Given the description of an element on the screen output the (x, y) to click on. 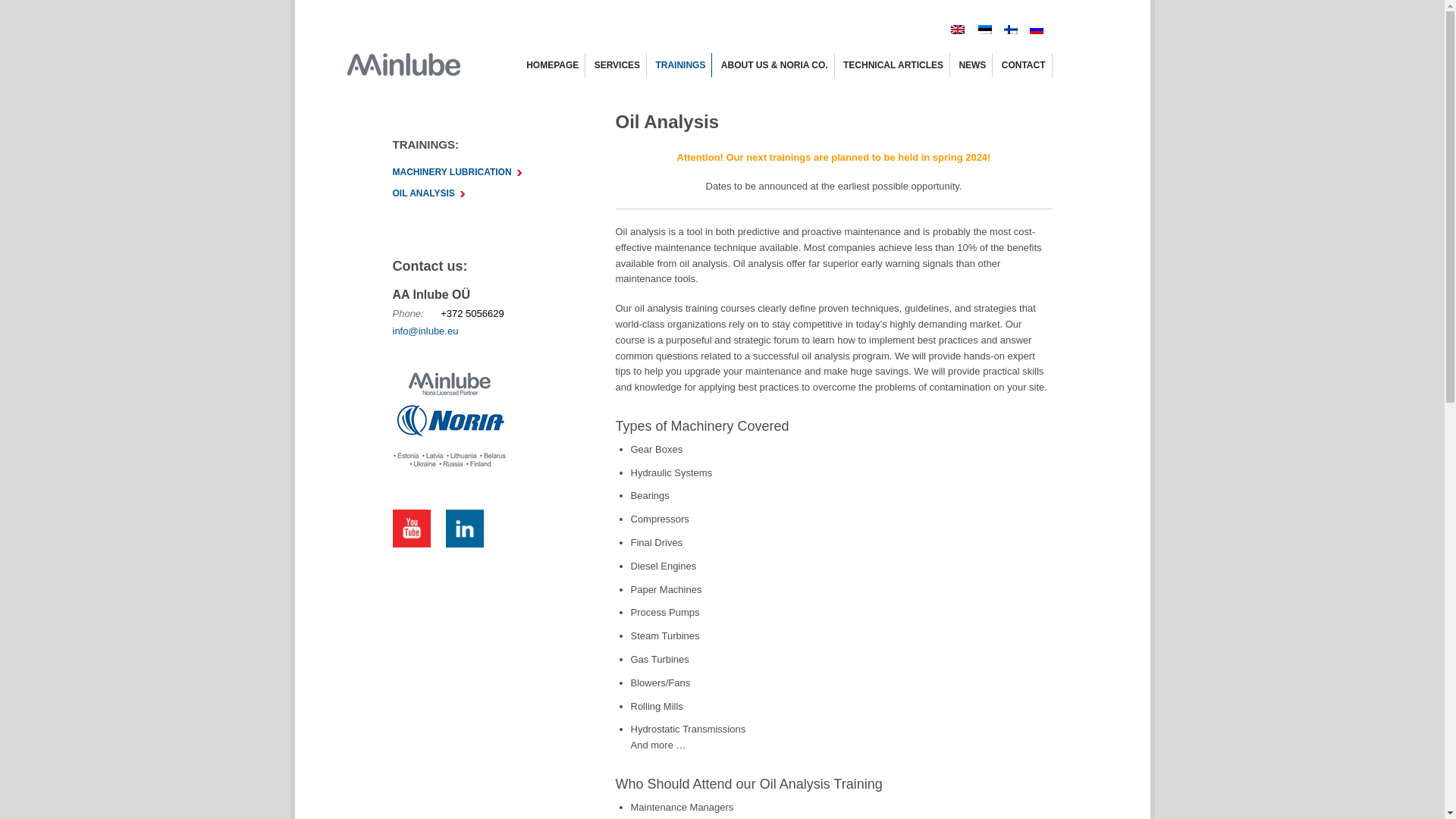
TECHNICAL ARTICLES (893, 64)
NEWS (971, 64)
CONTACT (1023, 64)
Norio corporation YT channel (464, 530)
Eesti (981, 28)
SERVICES (617, 64)
Norio corporation YT channel (419, 530)
Suomi (1008, 28)
English (956, 28)
HOMEPAGE (551, 64)
OIL ANALYSIS (429, 193)
MACHINERY LUBRICATION (457, 172)
TRAININGS (679, 64)
